Given the description of an element on the screen output the (x, y) to click on. 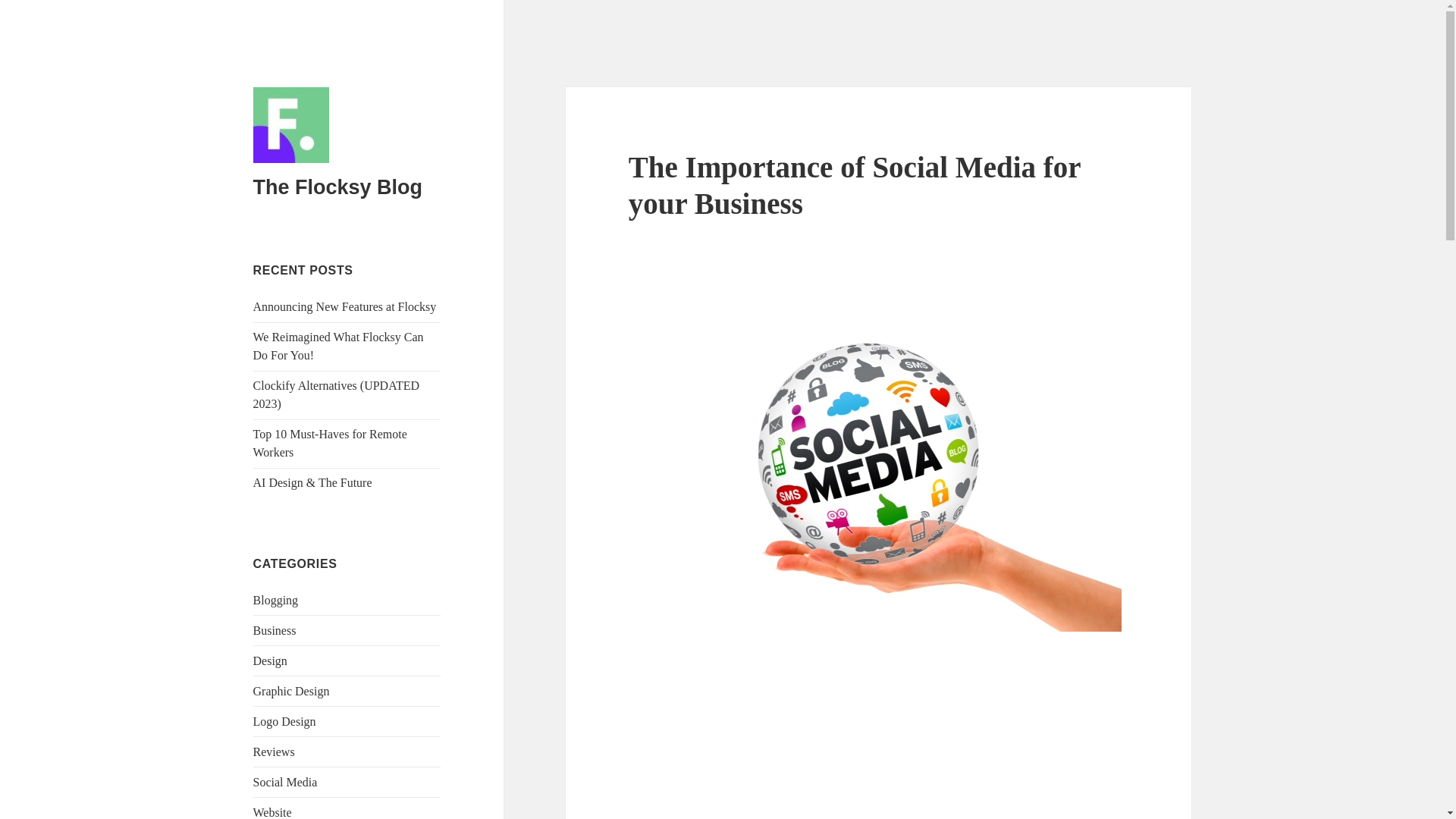
Logo Design (284, 721)
Announcing New Features at Flocksy (344, 306)
Social Media (285, 781)
Top 10 Must-Haves for Remote Workers (330, 442)
We Reimagined What Flocksy Can Do For You! (338, 345)
Graphic Design (291, 690)
Blogging (275, 599)
The Flocksy Blog (338, 187)
Website (272, 812)
Design (269, 660)
